Given the description of an element on the screen output the (x, y) to click on. 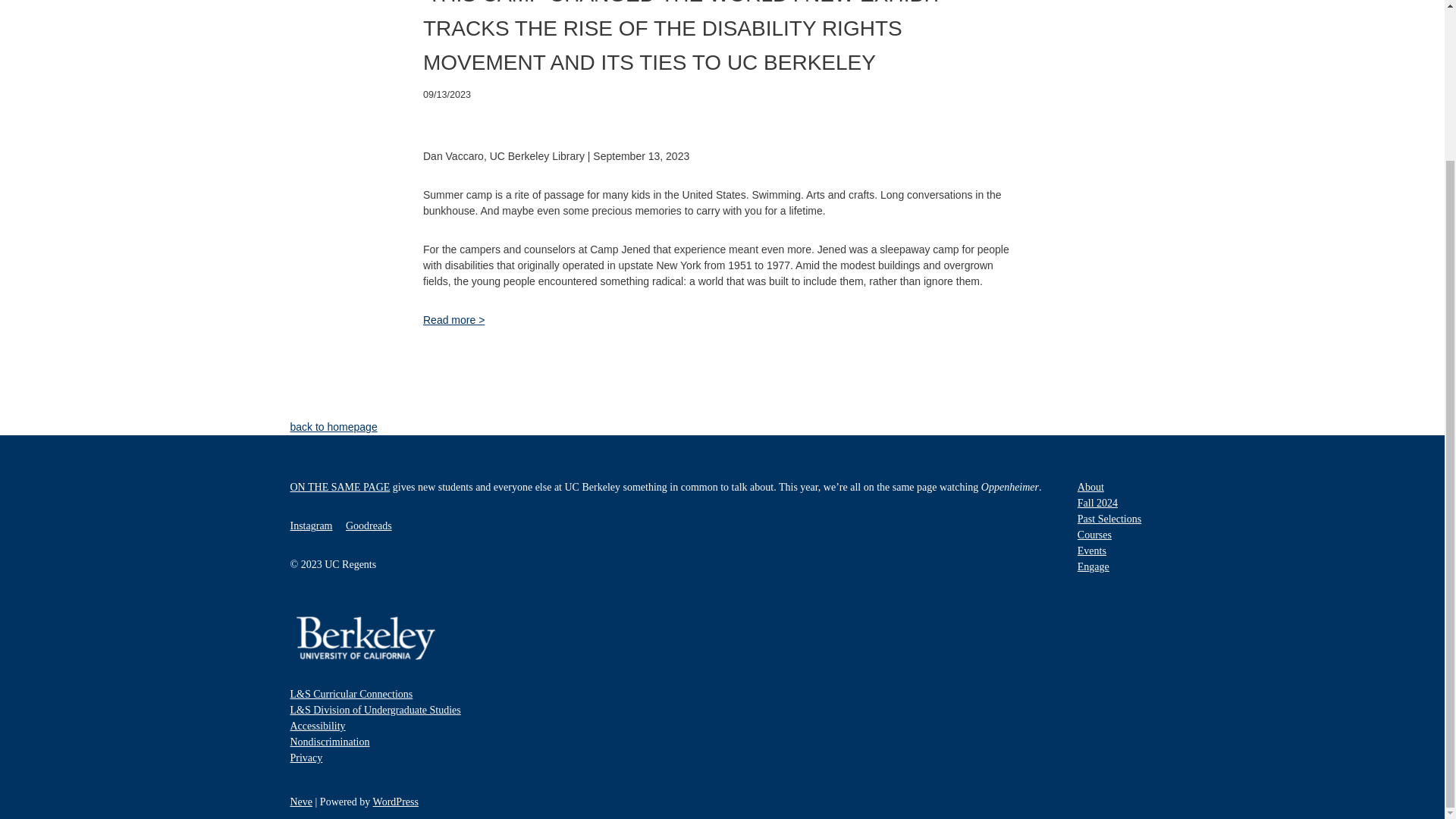
Goodreads (368, 525)
About (1090, 487)
Instagram (310, 525)
WordPress (395, 801)
Fall 2024 (1097, 502)
Events (1091, 550)
ON THE SAME PAGE (339, 487)
Neve (301, 801)
Courses (1094, 534)
Nondiscrimination (329, 741)
back to homepage (333, 426)
Engage (1093, 566)
Accessibility (317, 726)
Past Selections (1109, 518)
Privacy (305, 757)
